Given the description of an element on the screen output the (x, y) to click on. 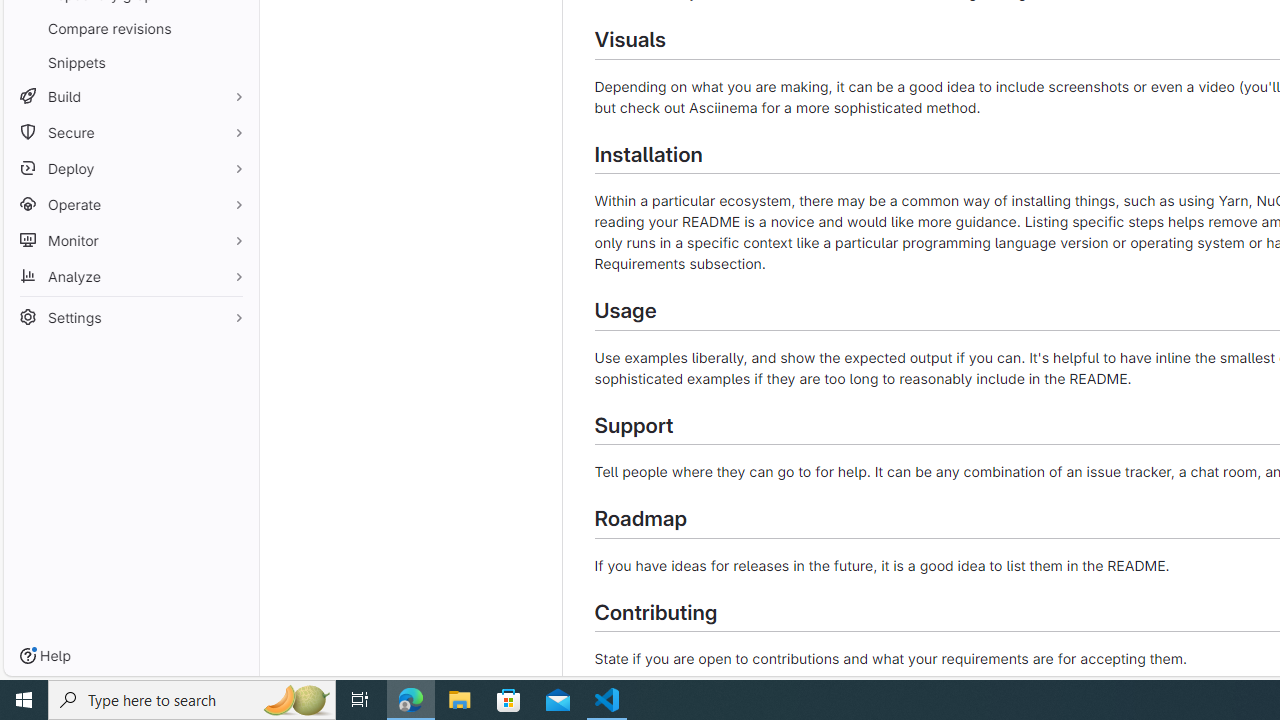
Secure (130, 132)
Monitor (130, 240)
Snippets (130, 62)
Operate (130, 204)
Deploy (130, 168)
